Given the description of an element on the screen output the (x, y) to click on. 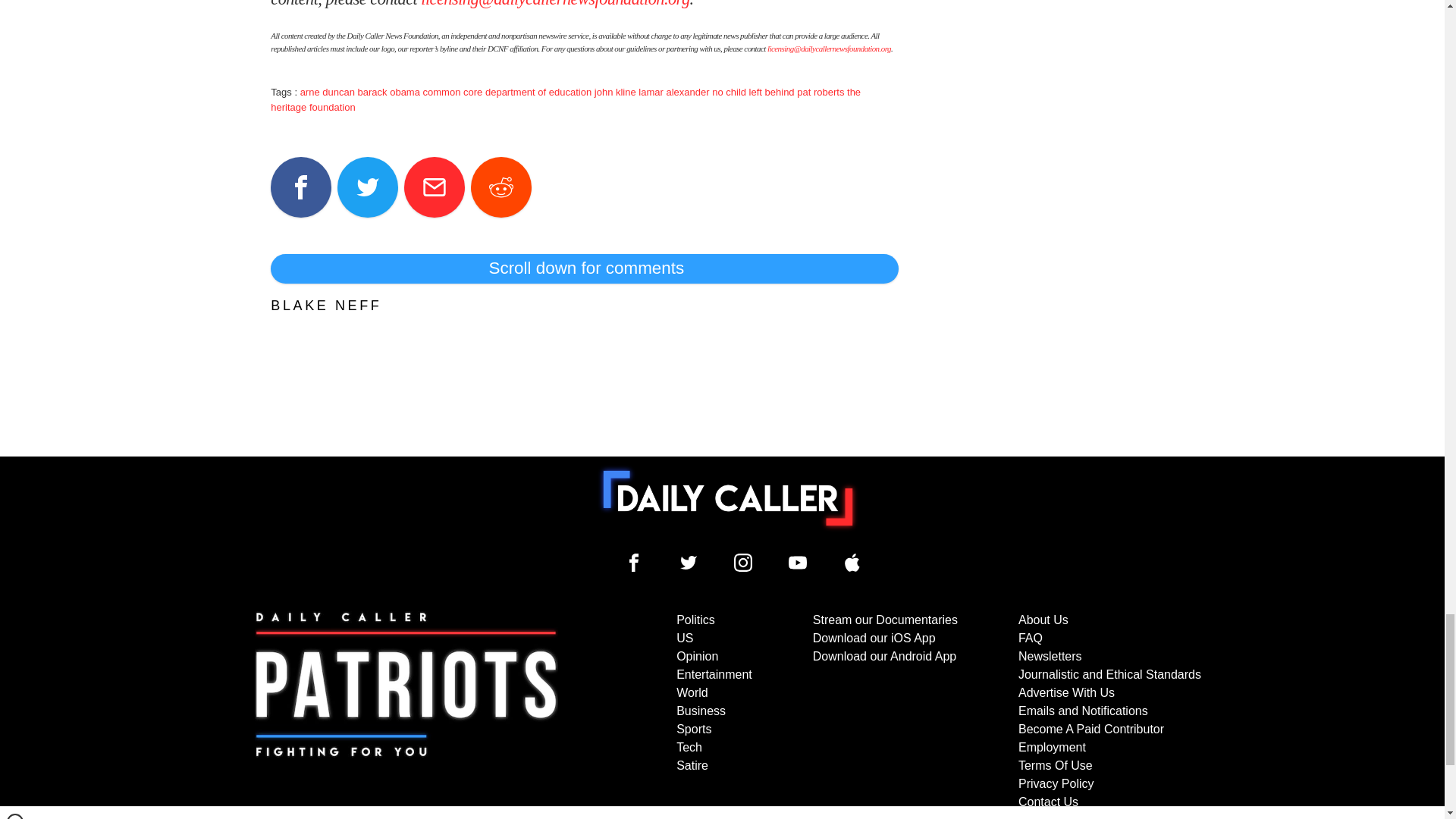
To home page (727, 497)
Daily Caller YouTube (797, 562)
Daily Caller Facebook (633, 562)
Daily Caller Twitter (688, 562)
Daily Caller Instagram (742, 562)
Daily Caller YouTube (852, 562)
Subscribe to The Daily Caller (405, 714)
Scroll down for comments (584, 267)
